Given the description of an element on the screen output the (x, y) to click on. 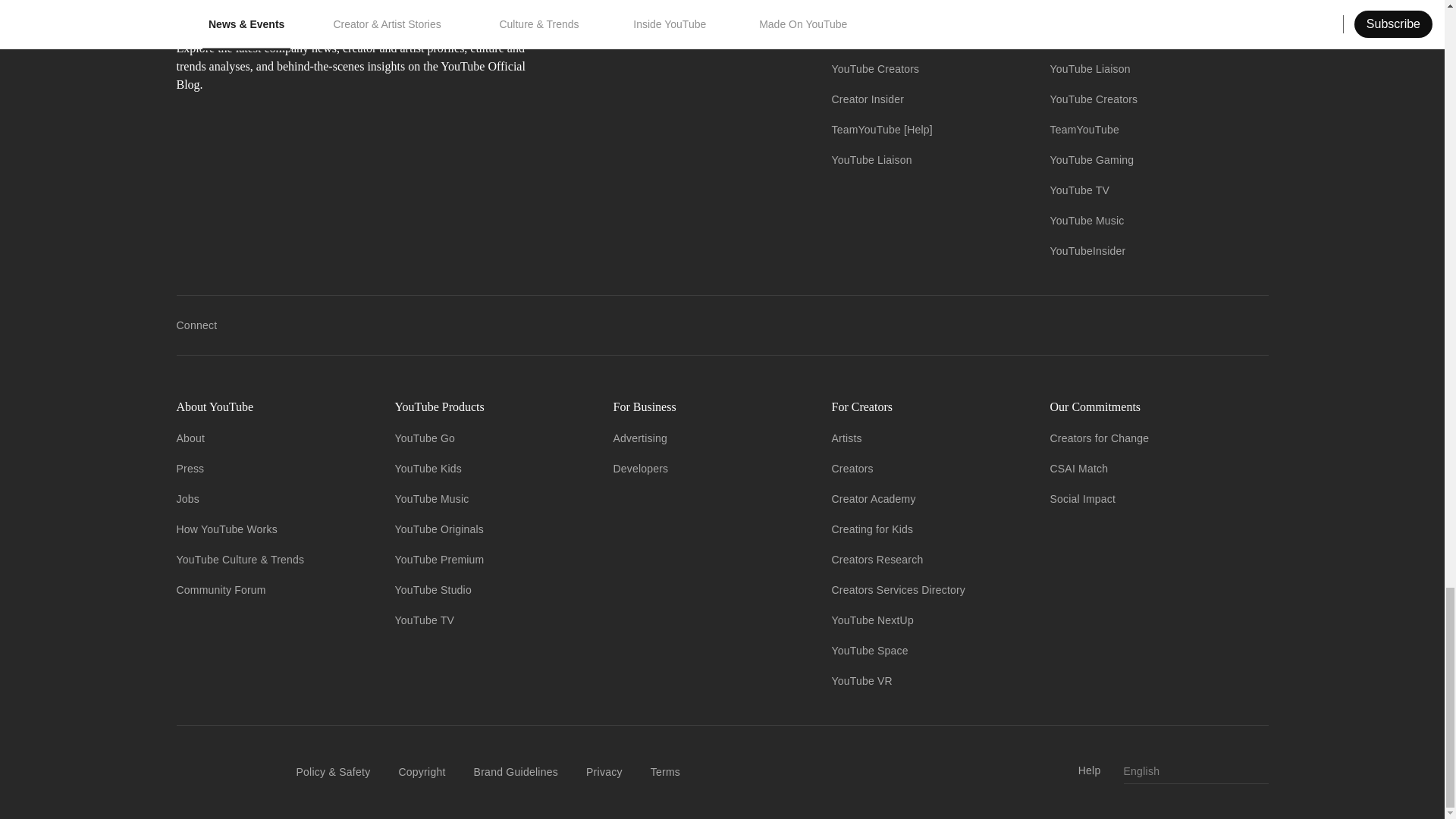
YouTube (852, 37)
Our Channels (928, 8)
